Given the description of an element on the screen output the (x, y) to click on. 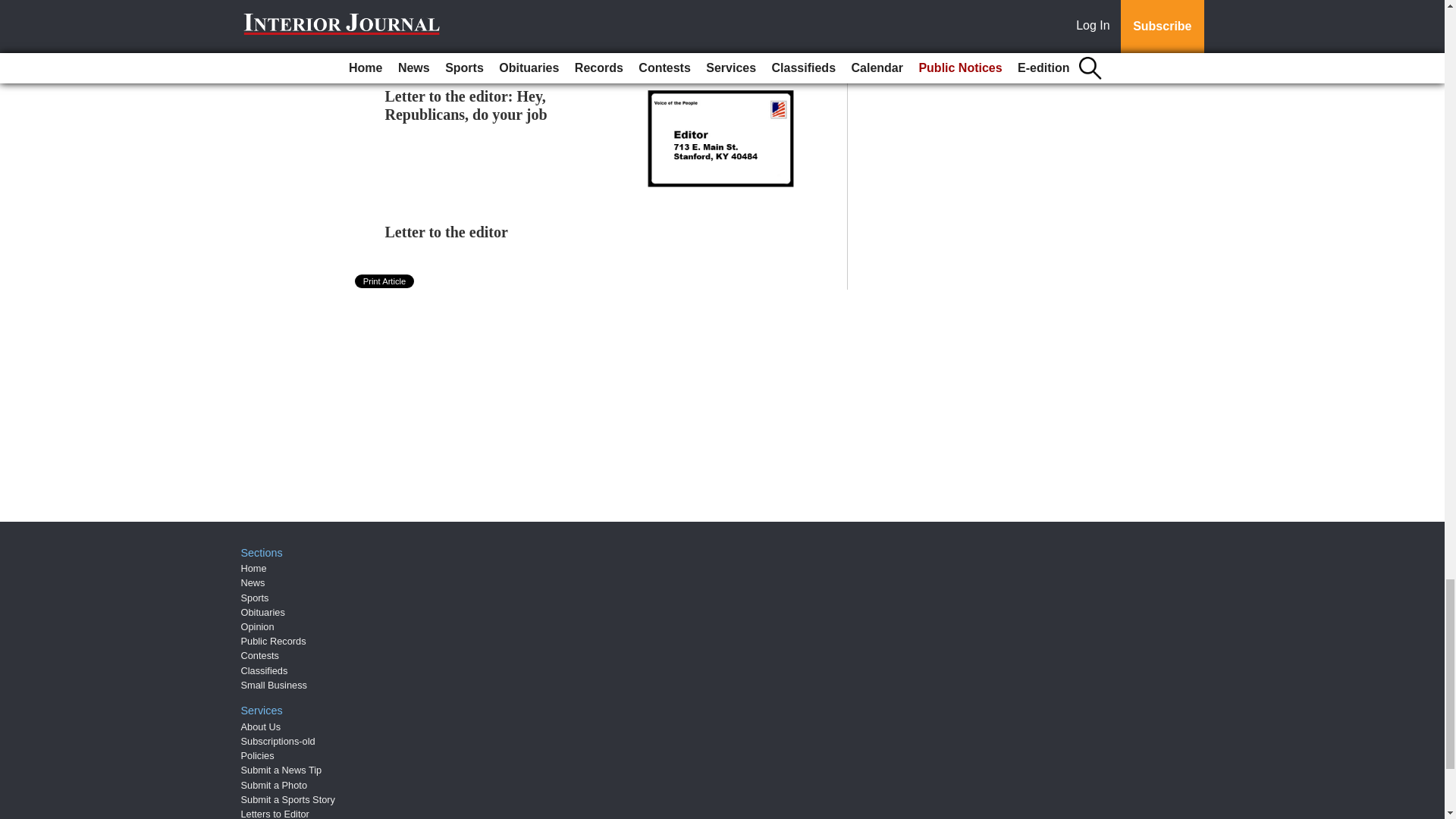
News (252, 582)
Letter to the editor: Hey, Republicans, do your job (466, 104)
Opinion (258, 626)
Public Records (273, 641)
Letter to the editor: Hey, Republicans, do your job (466, 104)
Sports (255, 597)
Letter to the editor (446, 231)
Print Article (384, 281)
Home (253, 568)
Letter to the editor (446, 231)
Obituaries (263, 612)
